Given the description of an element on the screen output the (x, y) to click on. 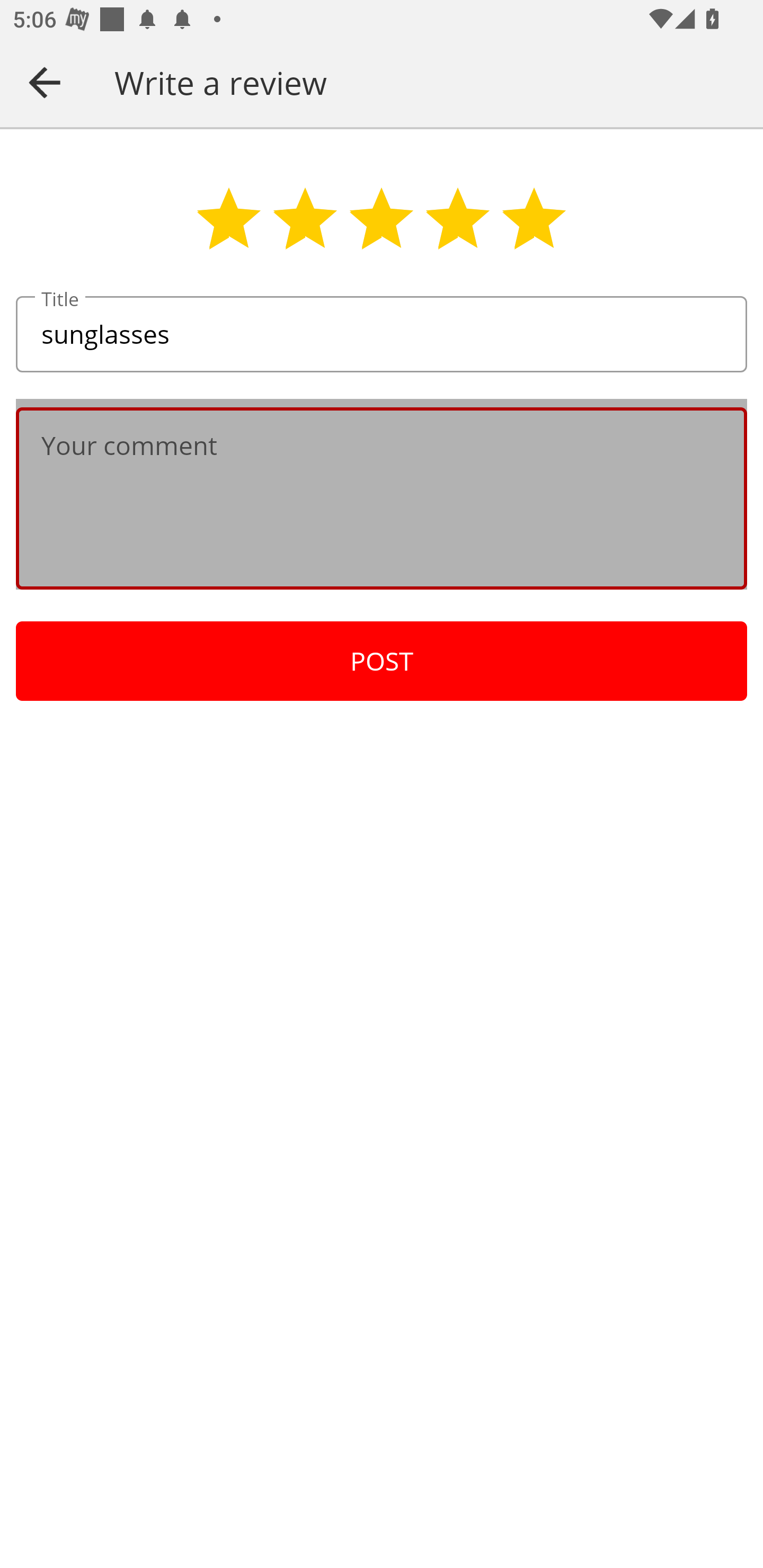
Navigate up (44, 82)
sunglasses (381, 334)
Your comment (381, 498)
POST (381, 660)
